Given the description of an element on the screen output the (x, y) to click on. 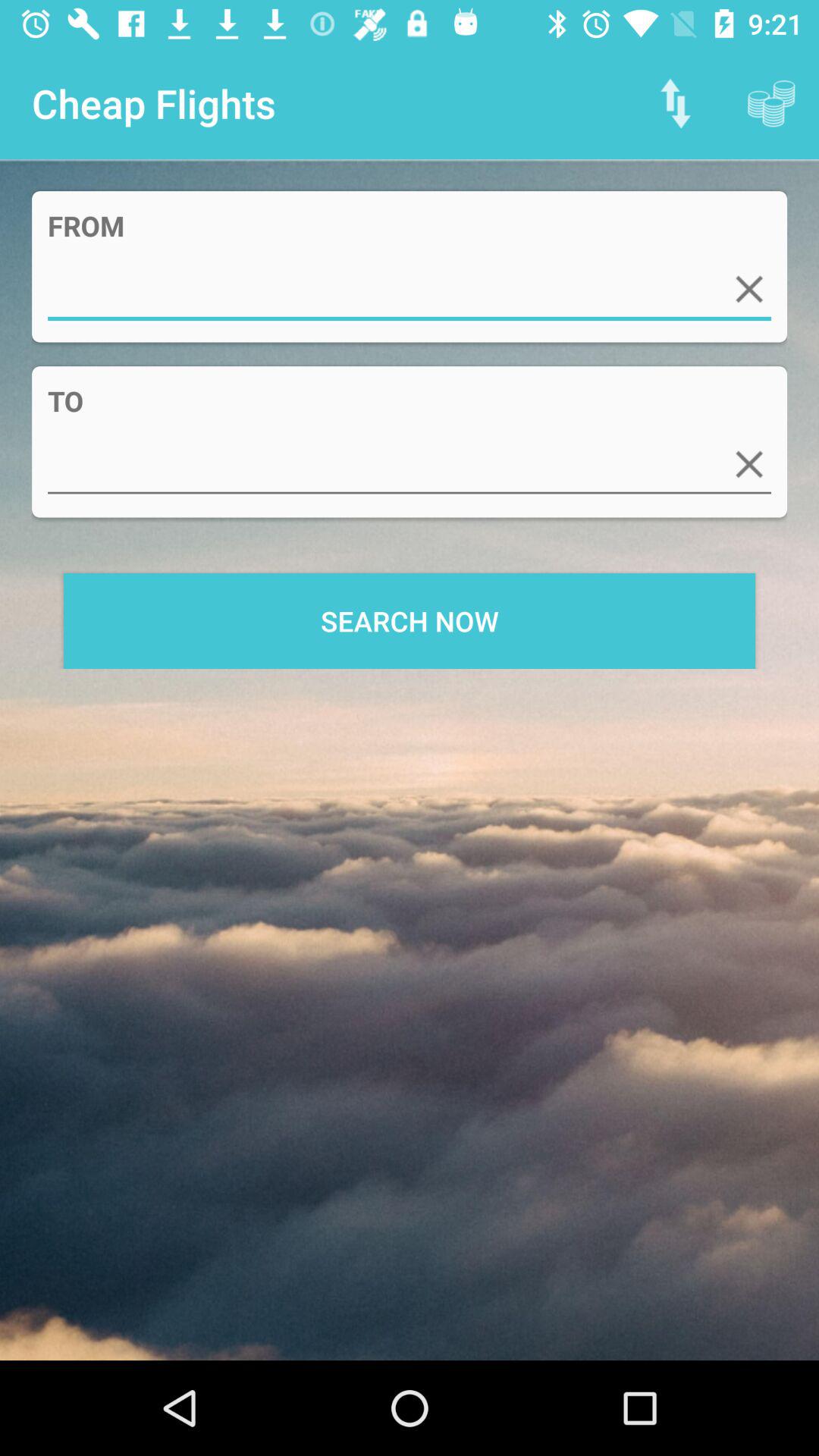
name button (409, 289)
